Given the description of an element on the screen output the (x, y) to click on. 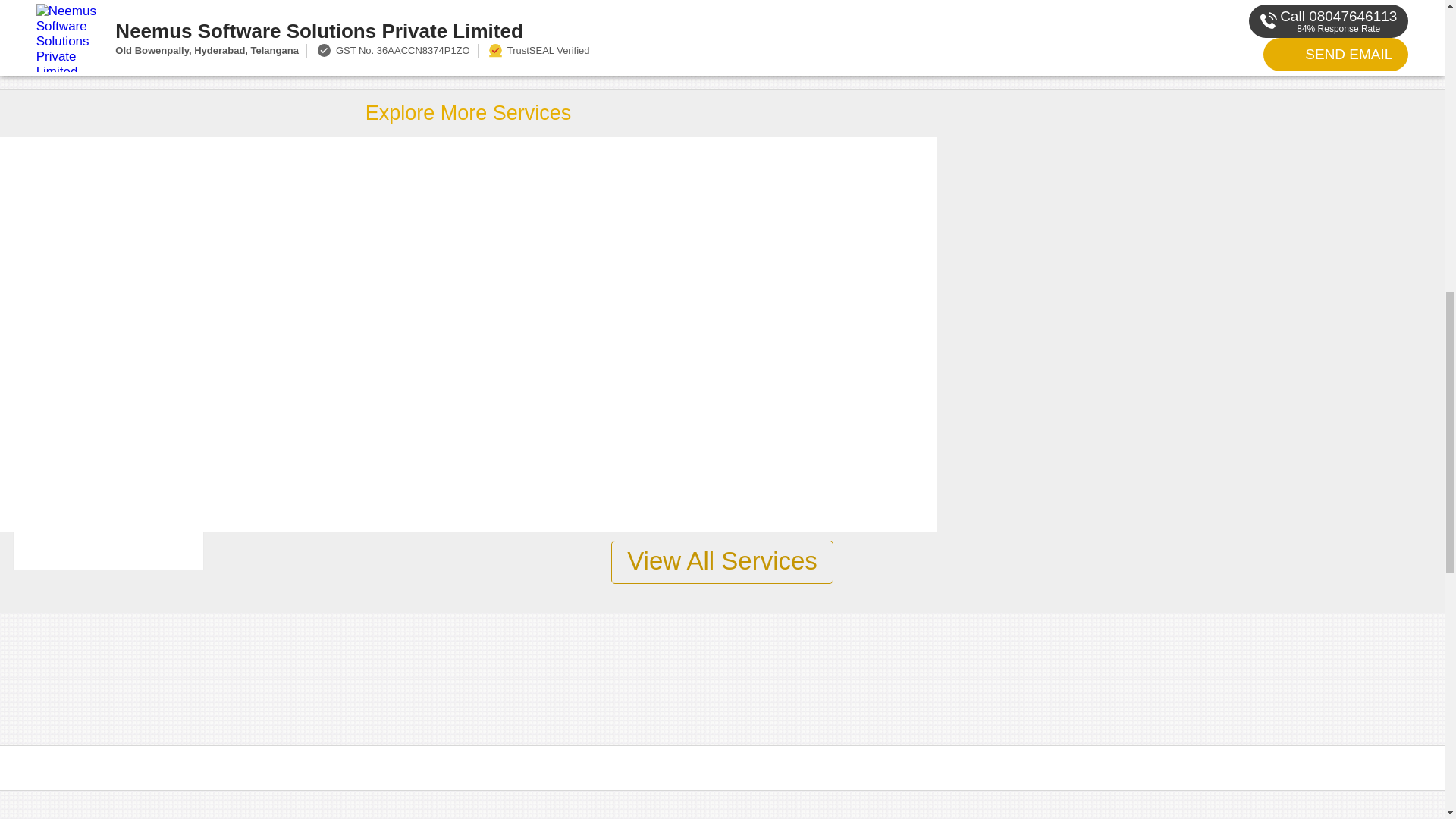
View All Services (721, 561)
